Given the description of an element on the screen output the (x, y) to click on. 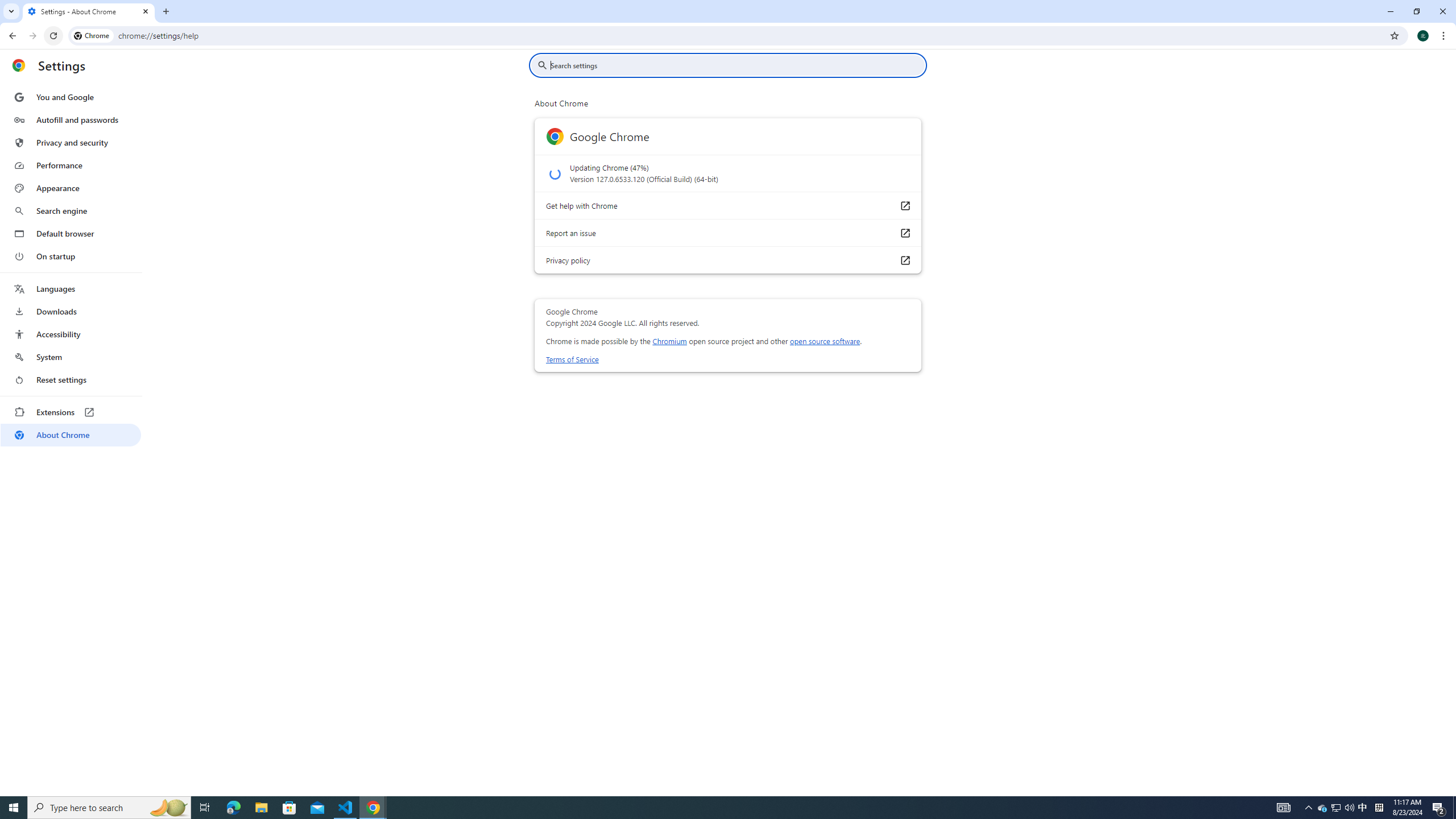
Search settings (735, 65)
Appearance (70, 187)
Languages (70, 288)
Extensions (70, 412)
Chromium (669, 340)
Performance (70, 164)
